Given the description of an element on the screen output the (x, y) to click on. 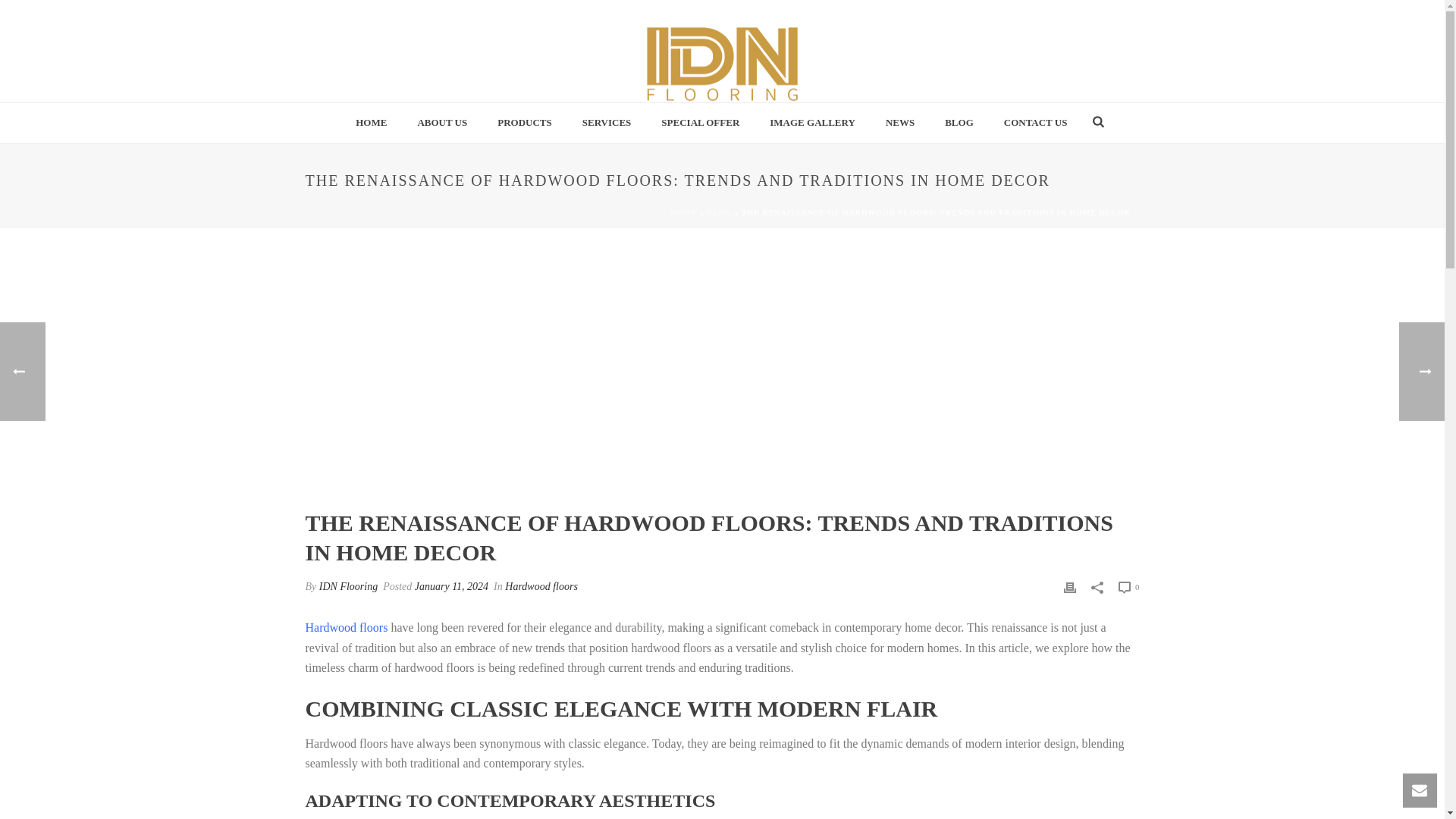
IMAGE GALLERY (812, 123)
IMAGE GALLERY (812, 123)
HOME (370, 123)
NEWS (900, 123)
NEWS (900, 123)
IDN Flooring (347, 586)
HOME (683, 212)
SPECIAL OFFER (700, 123)
PRODUCTS (524, 123)
HOME (370, 123)
